Given the description of an element on the screen output the (x, y) to click on. 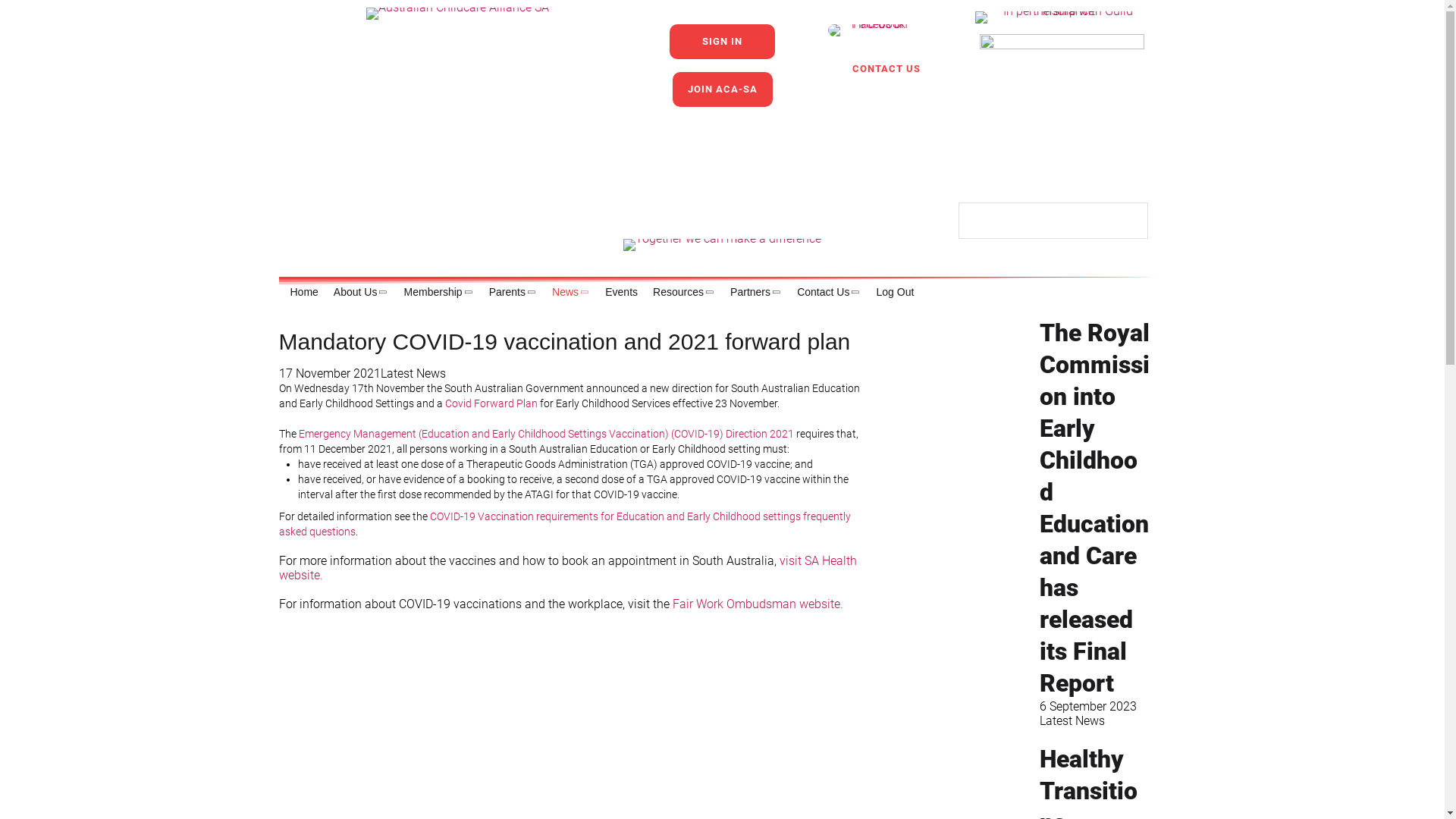
Contact Us Element type: text (824, 297)
Log Out Element type: text (891, 297)
Covid Forward Plan Element type: text (490, 403)
CONTACT US Element type: text (873, 68)
Fair Work Ombudsman website.  Element type: text (758, 603)
Partners Element type: text (751, 297)
Home Element type: text (299, 297)
Latest News Element type: text (412, 373)
visit SA Health website. Element type: text (567, 567)
Events Element type: text (617, 297)
JOIN ACA-SA Element type: text (721, 89)
SIGN IN Element type: text (722, 41)
Latest News Element type: text (1071, 720)
Parents Element type: text (508, 297)
